Given the description of an element on the screen output the (x, y) to click on. 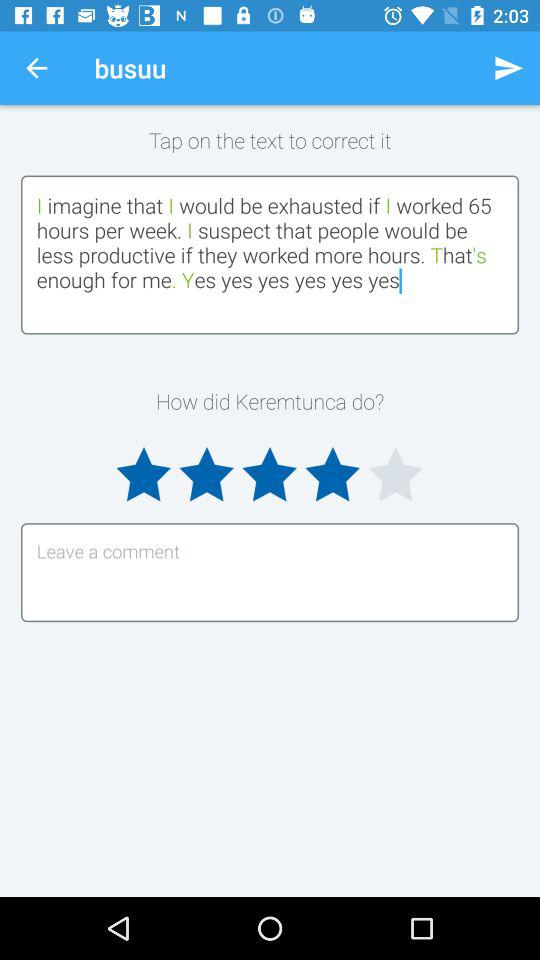
tap item next to the busuu (508, 67)
